Given the description of an element on the screen output the (x, y) to click on. 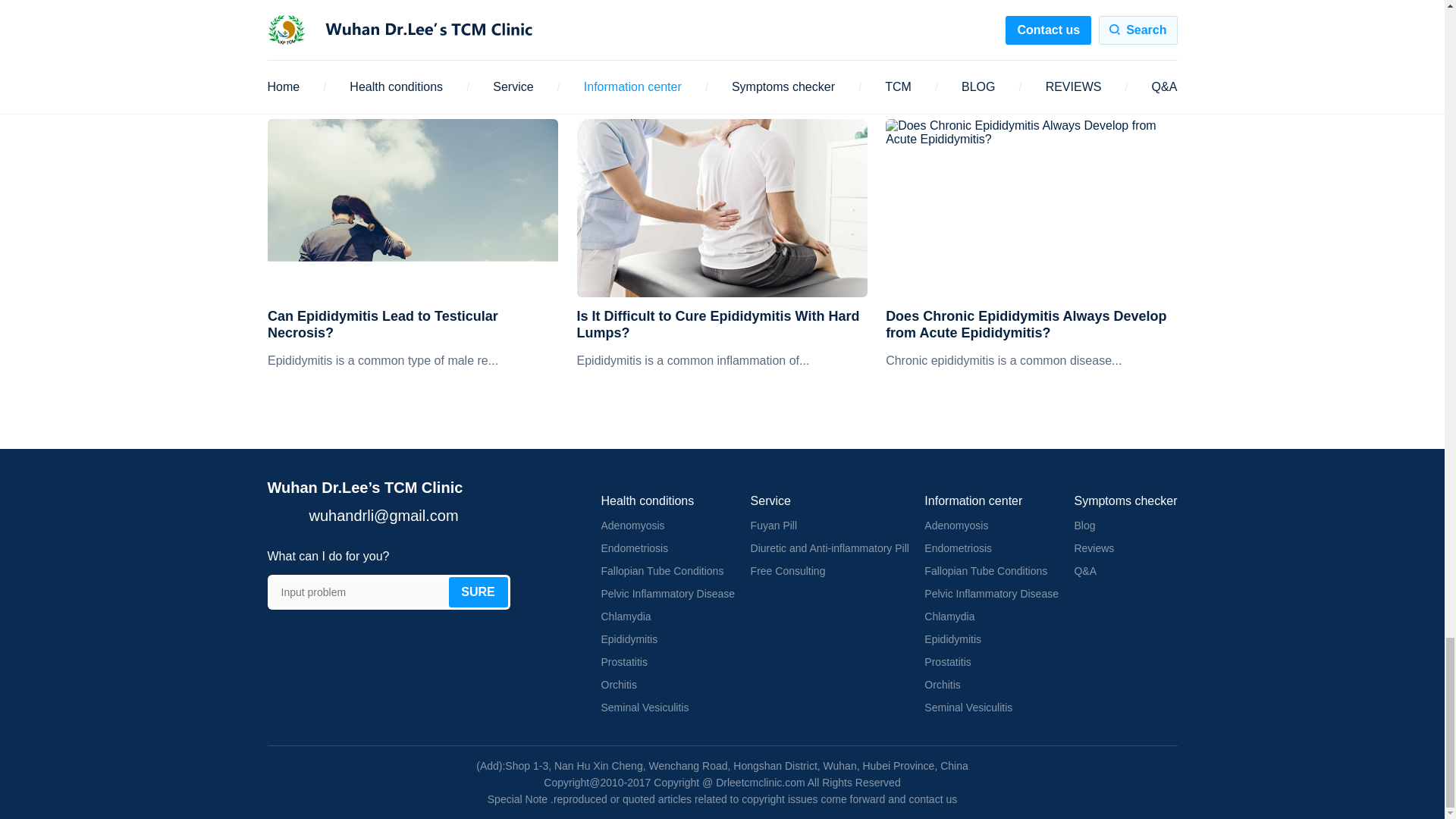
Can Epididymitis Lead to Testicular Necrosis? (412, 324)
SURE (478, 592)
Is It Difficult to Cure Epididymitis With Hard Lumps? (721, 324)
Is It Difficult to Cure Epididymitis With Hard Lumps? (721, 207)
Can Epididymitis Lead to Testicular Necrosis? (412, 207)
